Given the description of an element on the screen output the (x, y) to click on. 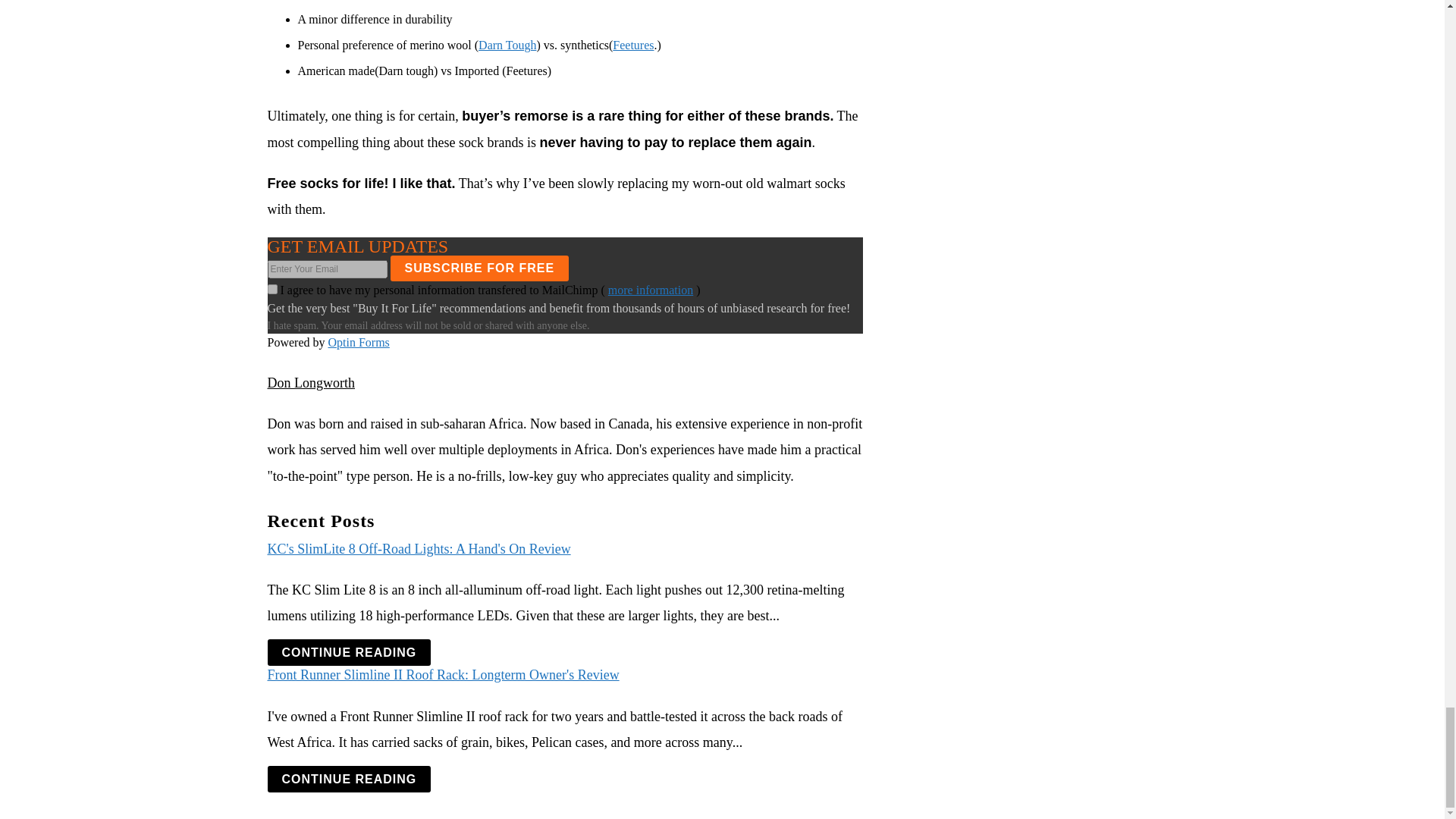
on (271, 289)
SUBSCRIBE FOR FREE (479, 268)
